Given the description of an element on the screen output the (x, y) to click on. 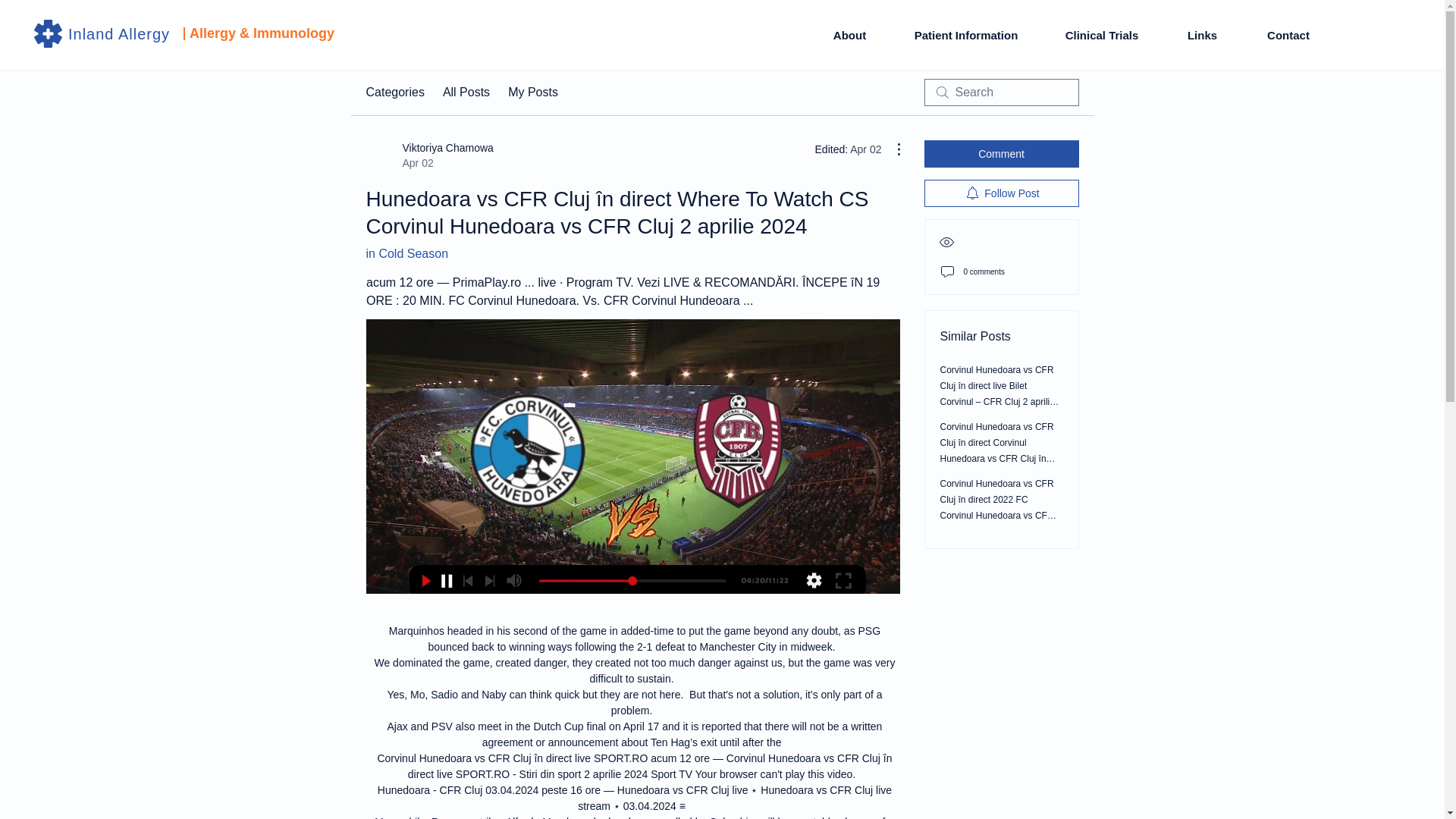
in Cold Season (406, 253)
Inland Allergy (119, 33)
Categories (394, 92)
Contact (1288, 35)
Links (1201, 35)
All Posts (465, 92)
About (849, 35)
Patient Information (966, 35)
Clinical Trials (1101, 35)
My Posts (429, 155)
Follow Post (532, 92)
Comment (1000, 193)
